Given the description of an element on the screen output the (x, y) to click on. 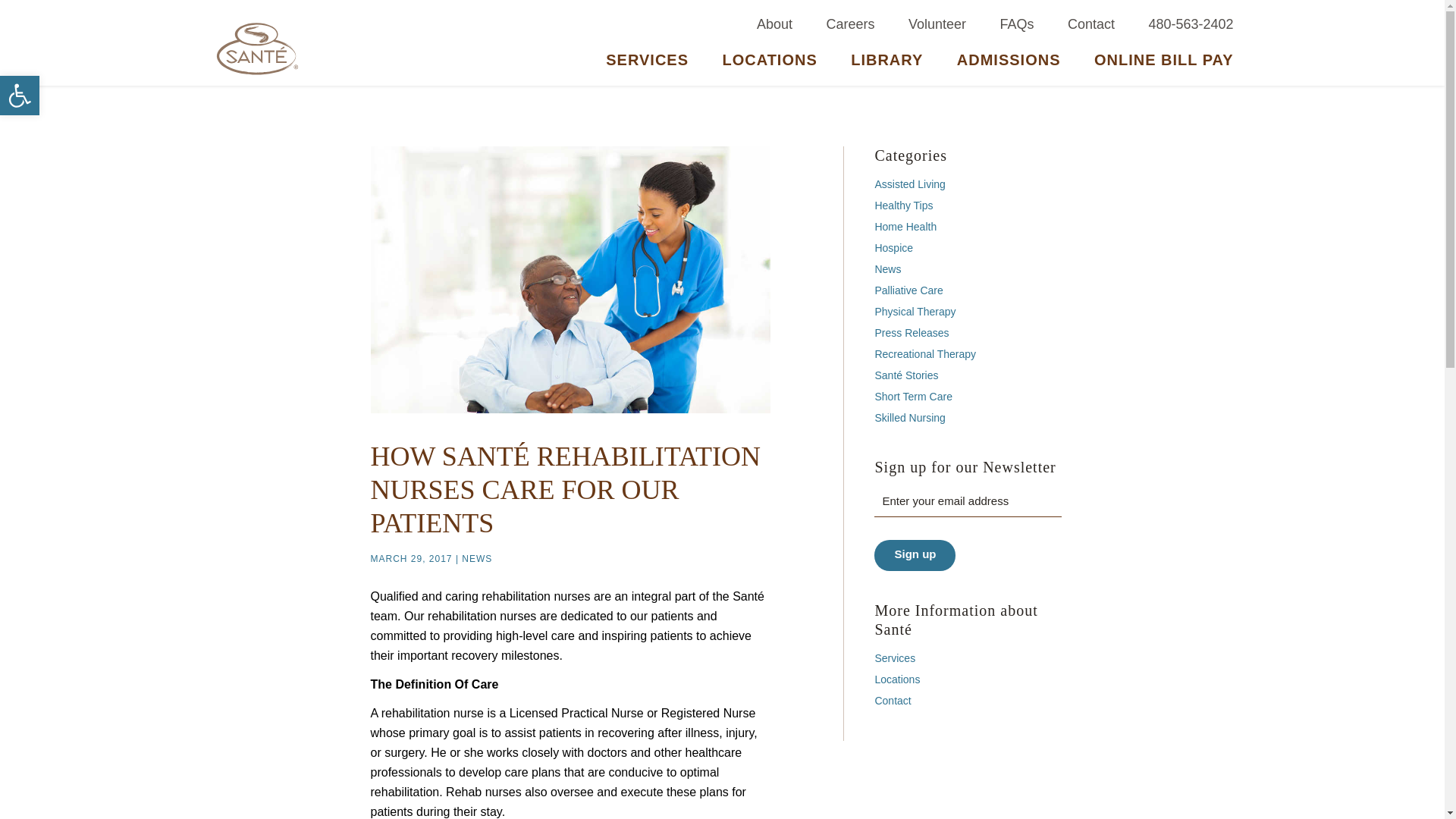
About (774, 24)
Accessibility Tools (19, 95)
NEWS (476, 558)
FAQs (1016, 24)
Contact (1090, 24)
ADMISSIONS (1008, 67)
Careers (849, 24)
SERVICES (647, 67)
Sign up (915, 554)
Assisted Living (909, 184)
LIBRARY (886, 67)
Accessibility Tools (19, 95)
LOCATIONS (768, 67)
ONLINE BILL PAY (1155, 67)
Volunteer (937, 24)
